Given the description of an element on the screen output the (x, y) to click on. 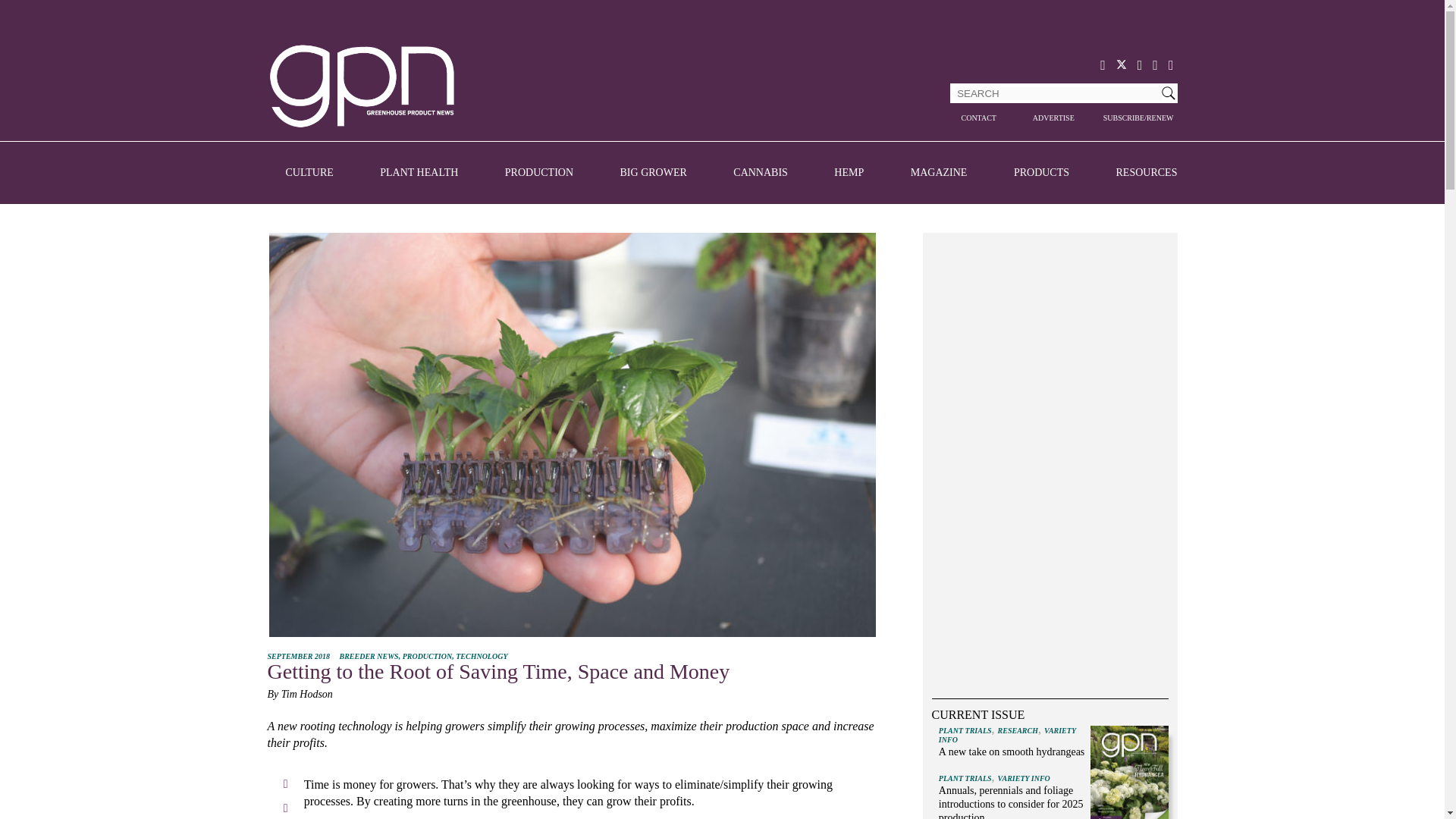
CANNABIS (760, 172)
CONTACT (977, 117)
BIG GROWER (653, 172)
CULTURE (309, 172)
PLANT HEALTH (419, 172)
PRODUCTION (539, 172)
ADVERTISE (1053, 117)
